Given the description of an element on the screen output the (x, y) to click on. 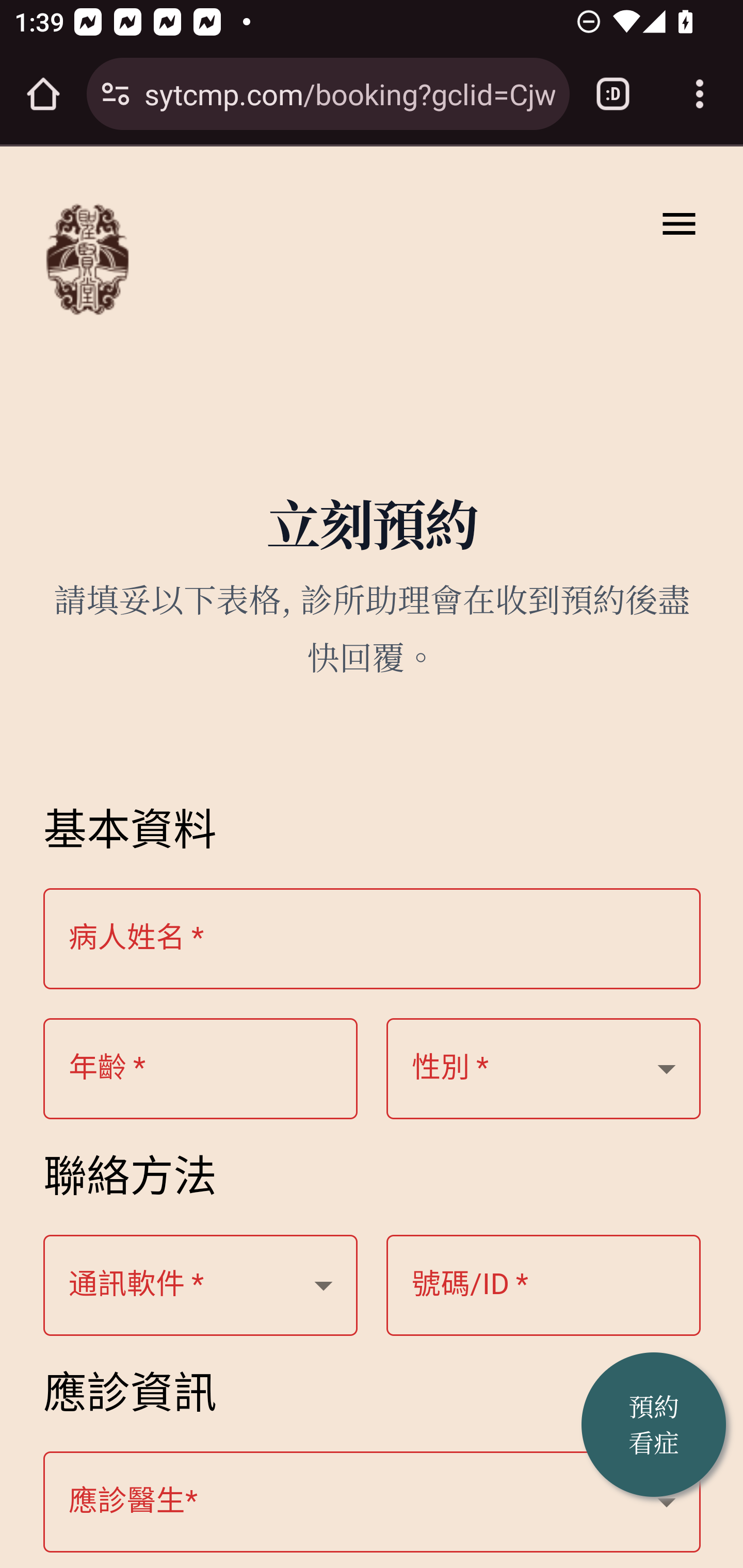
Open the home page (43, 93)
Connection is secure (115, 93)
Switch or close tabs (612, 93)
Customize and control Google Chrome (699, 93)
年齡 性別 號碼/ID (200, 1069)
年齡 (544, 1069)
通訊軟件 ​ (200, 1286)
​ (372, 1502)
